Given the description of an element on the screen output the (x, y) to click on. 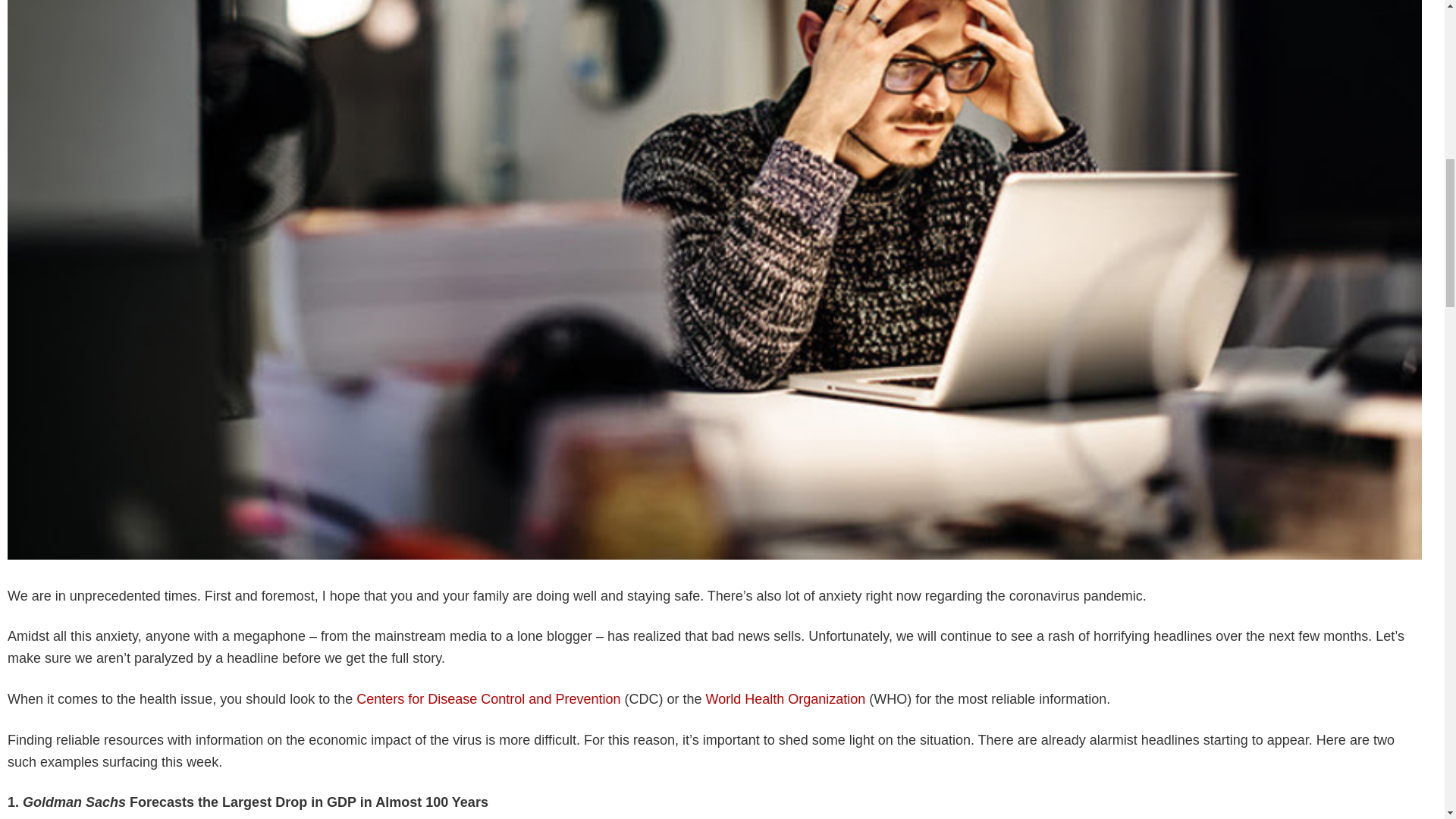
World Health Organization (784, 705)
Centers for Disease Control and Prevention (487, 707)
